Given the description of an element on the screen output the (x, y) to click on. 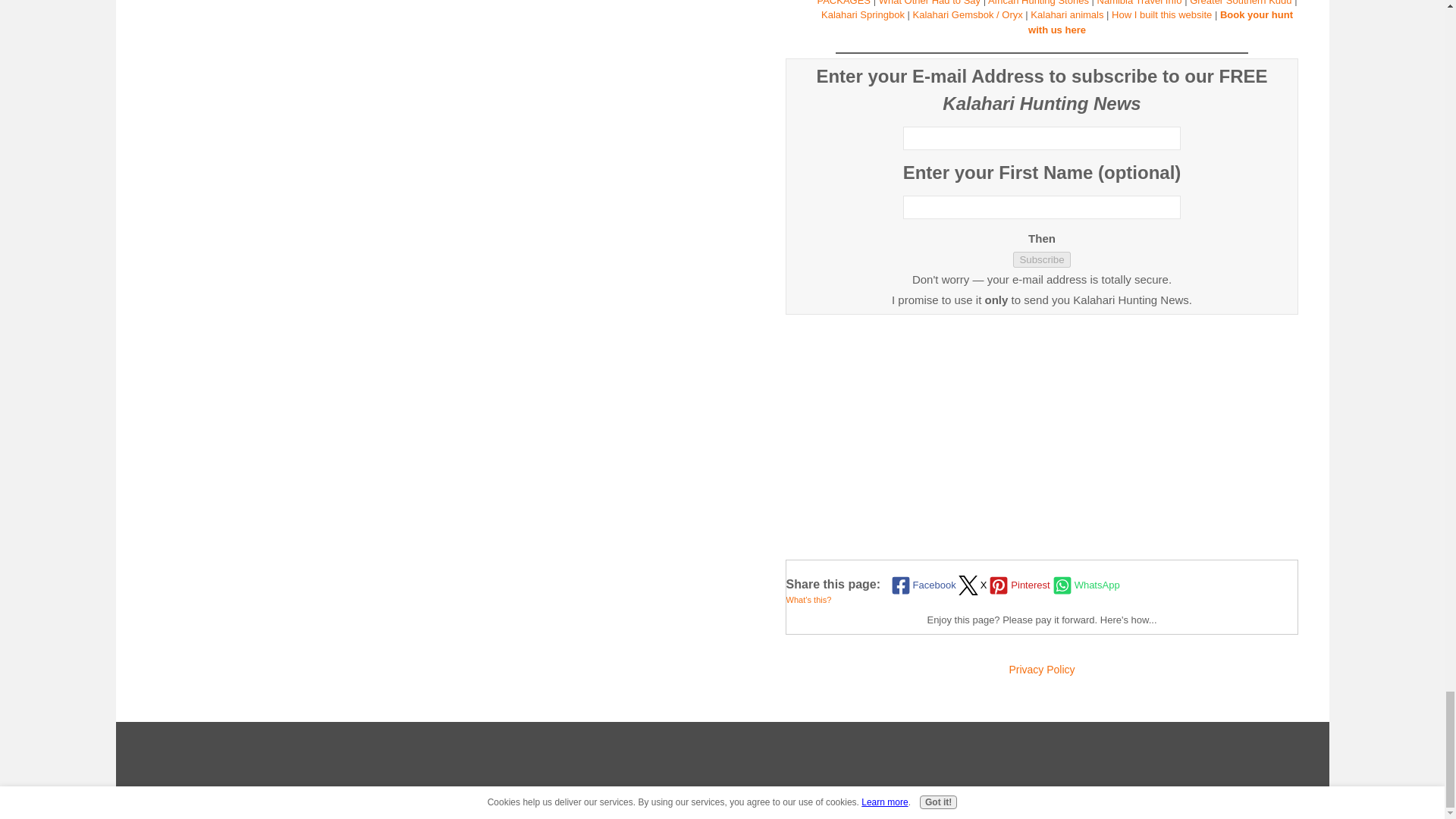
Subscribe (1041, 259)
